Given the description of an element on the screen output the (x, y) to click on. 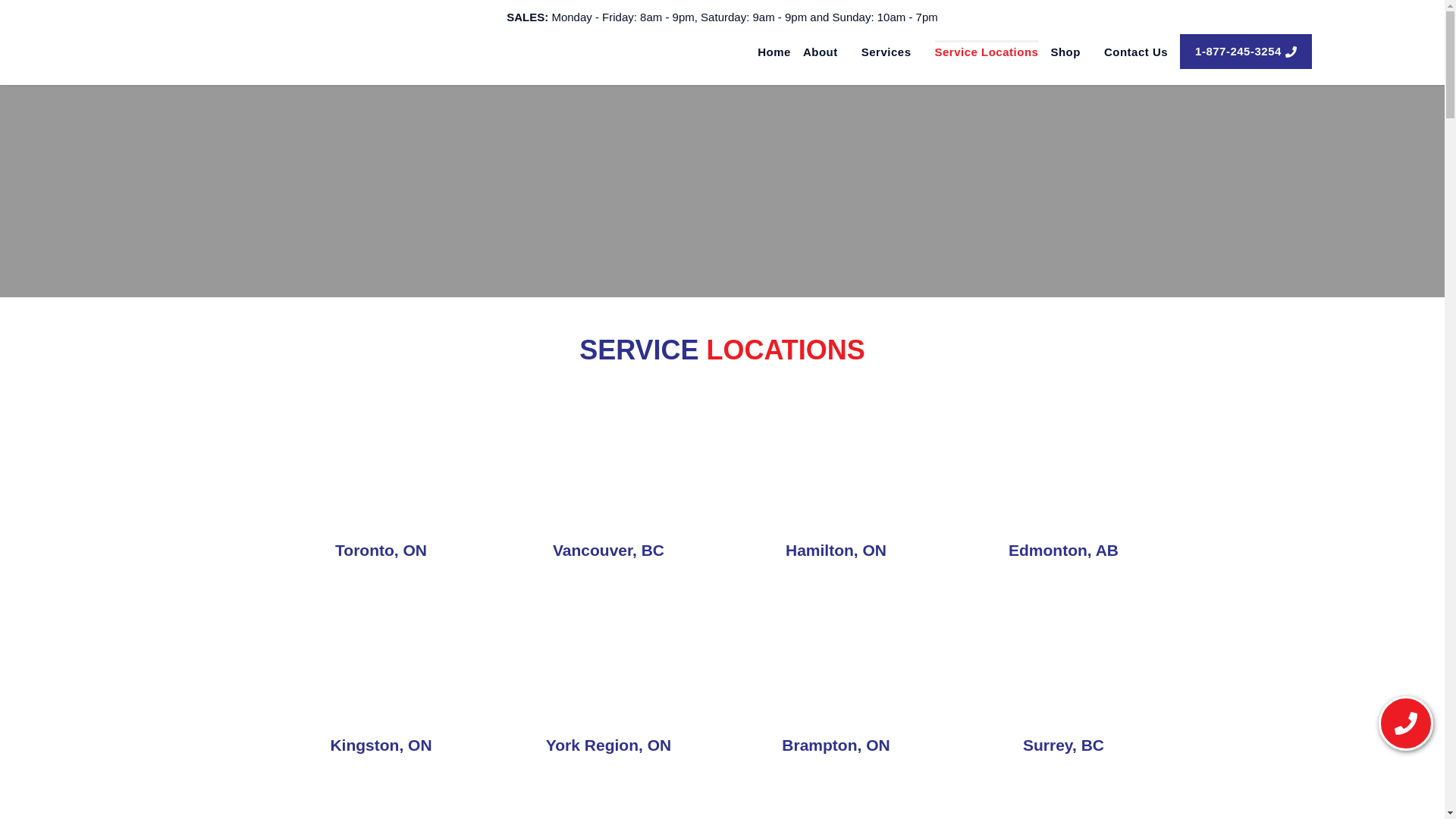
Brampton, ON (836, 669)
Burnaby, BC (836, 798)
Contact Us (1135, 52)
Surrey, BC (1063, 669)
Toronto, ON (381, 474)
Moving Services Canada (892, 52)
Ottawa, ON (1063, 798)
Durham, ON (608, 798)
Edmonton, AB (1063, 474)
About (825, 52)
Hamilton, ON (836, 474)
Vancouver, BC (608, 474)
Service Locations (986, 52)
Shop (1070, 52)
Moving Service Locations (986, 52)
